Given the description of an element on the screen output the (x, y) to click on. 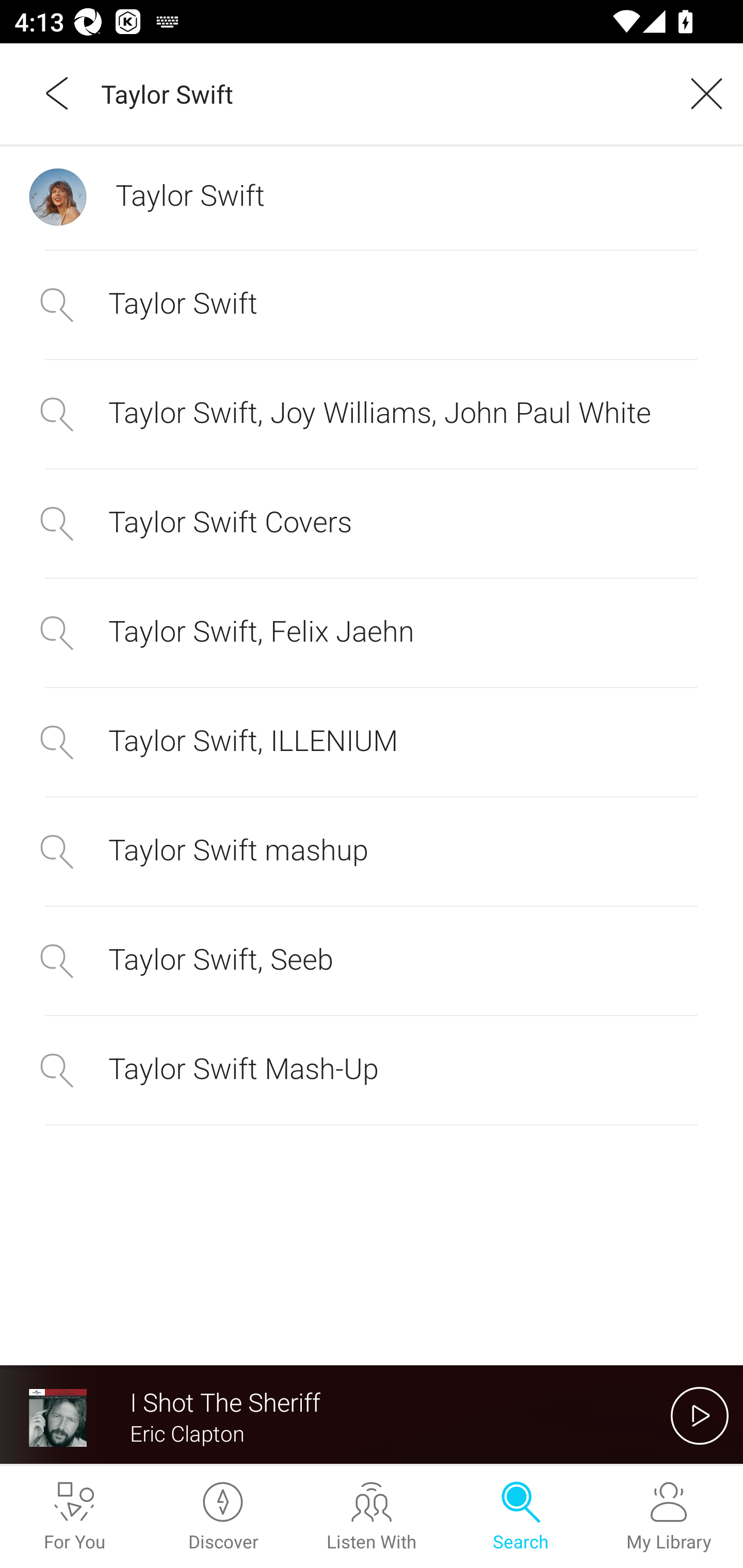
Taylor Swift (378, 92)
Clear query (699, 92)
Back,outside of the list (57, 93)
Search preview item Taylor Swift (371, 196)
Taylor Swift (371, 304)
Taylor Swift, Joy Williams, John Paul White (371, 414)
Taylor Swift Covers (371, 522)
Taylor Swift, Felix Jaehn (371, 632)
Taylor Swift, ILLENIUM (371, 742)
Taylor Swift mashup (371, 852)
Taylor Swift, Seeb (371, 960)
Taylor Swift Mash-Up (371, 1070)
開始播放 (699, 1415)
For You (74, 1517)
Discover (222, 1517)
Listen With (371, 1517)
Search (519, 1517)
My Library (668, 1517)
